Given the description of an element on the screen output the (x, y) to click on. 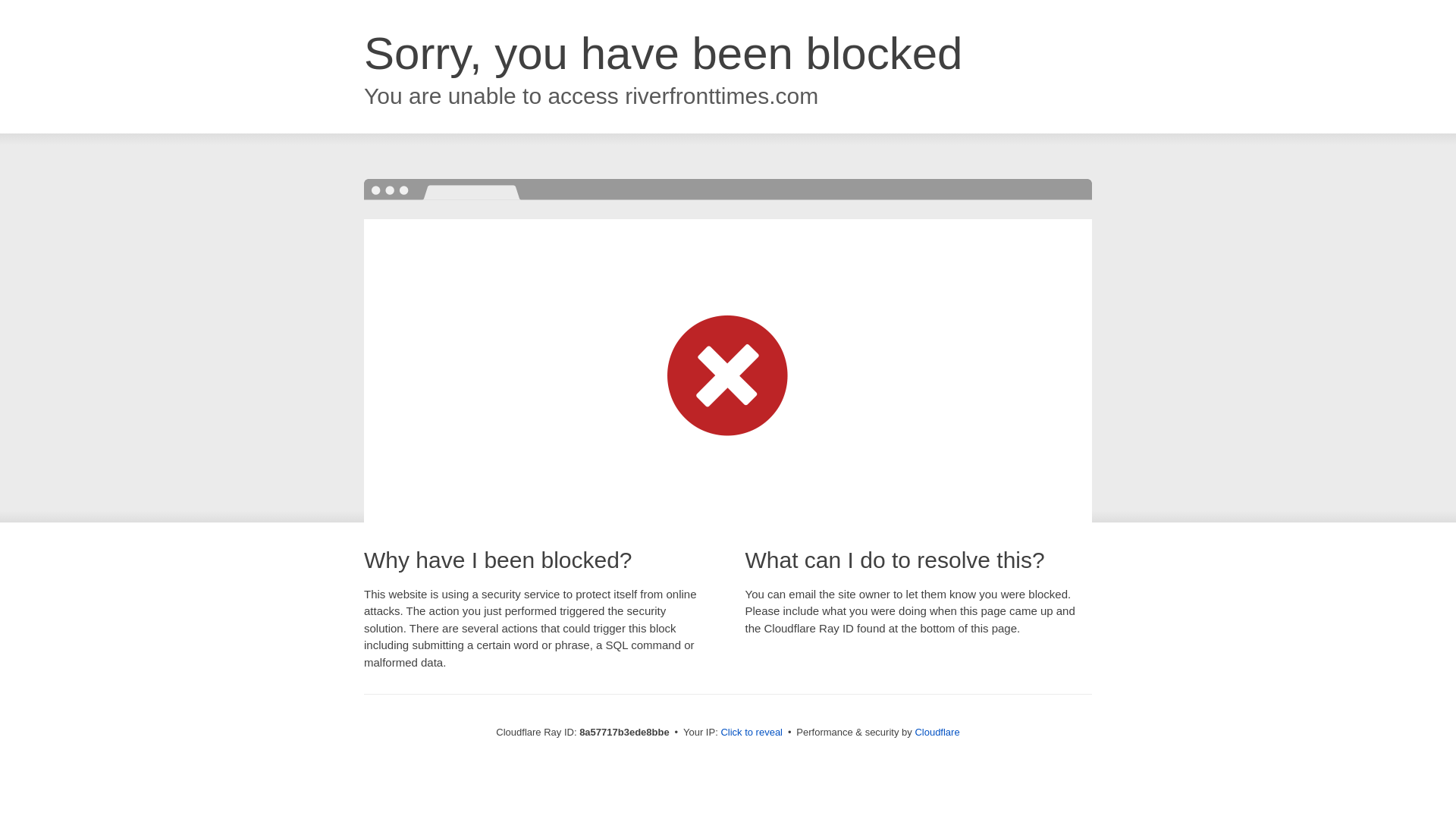
Cloudflare (936, 731)
Click to reveal (751, 732)
